Given the description of an element on the screen output the (x, y) to click on. 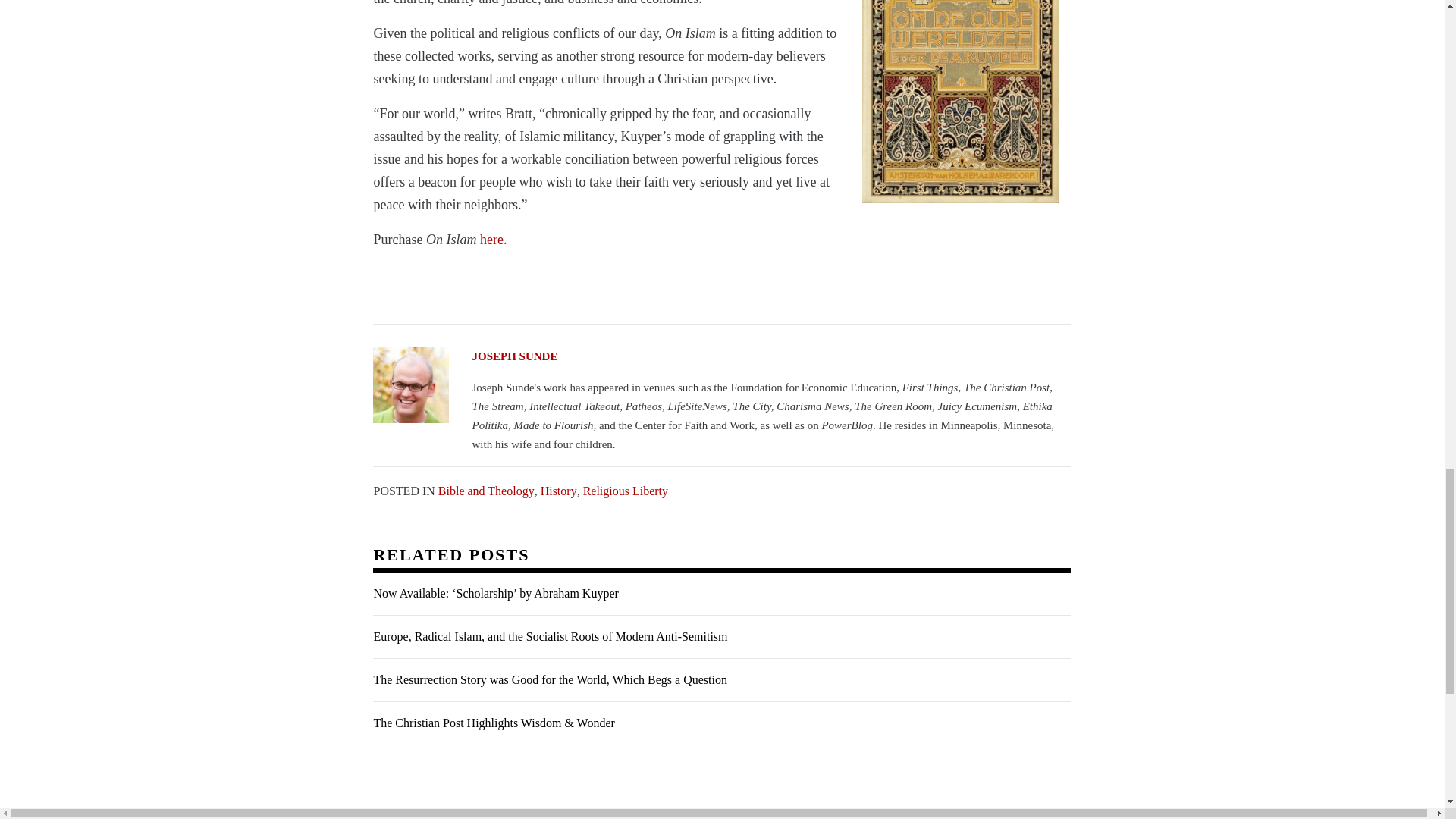
History (558, 490)
Religious Liberty (625, 490)
here (491, 239)
JOSEPH SUNDE (721, 356)
Bible and Theology (486, 490)
